Given the description of an element on the screen output the (x, y) to click on. 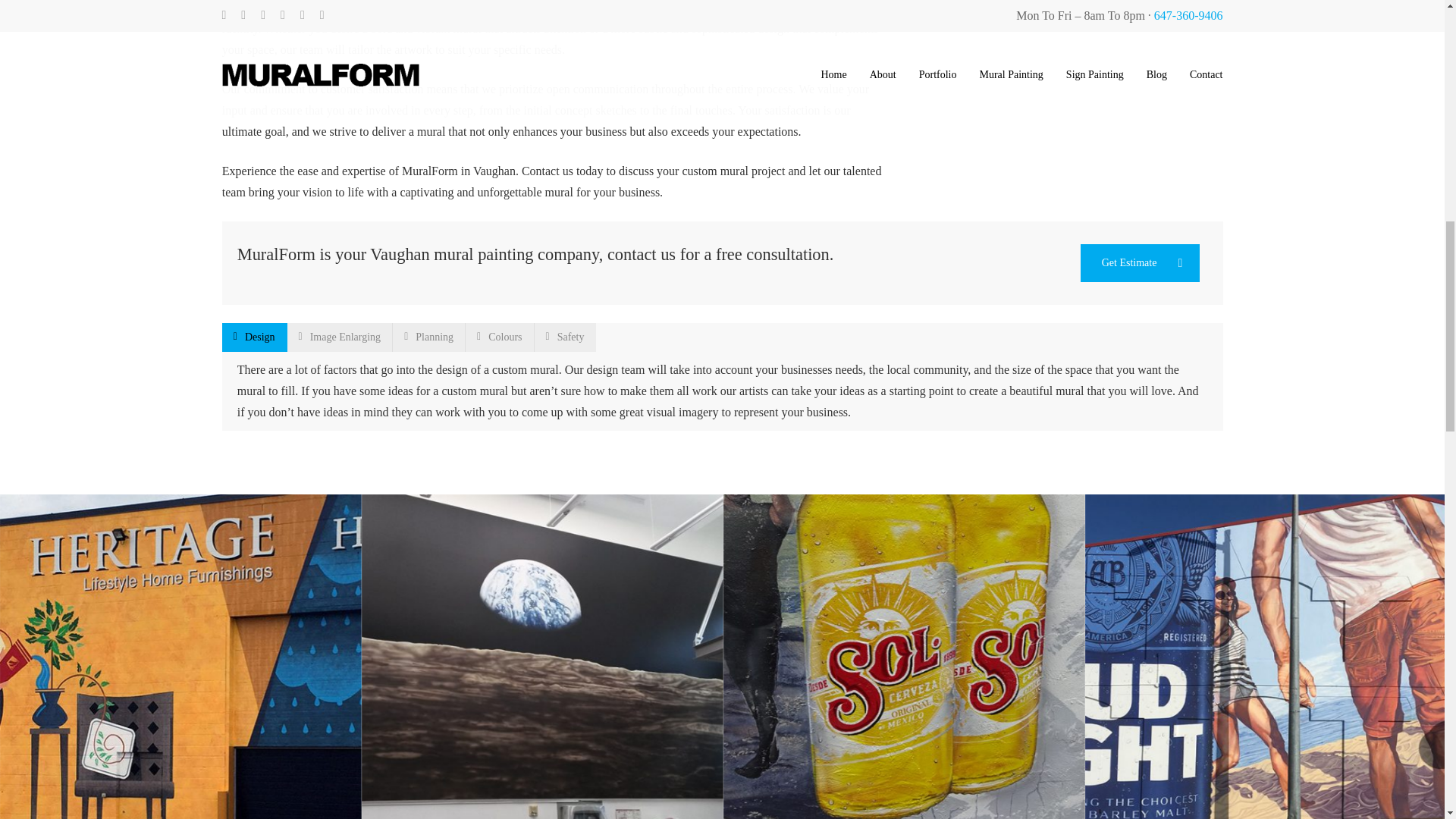
Planning (429, 337)
Safety (564, 337)
Image Enlarging (339, 337)
Colours (499, 337)
Get Estimate (1139, 262)
Design (254, 337)
